Given the description of an element on the screen output the (x, y) to click on. 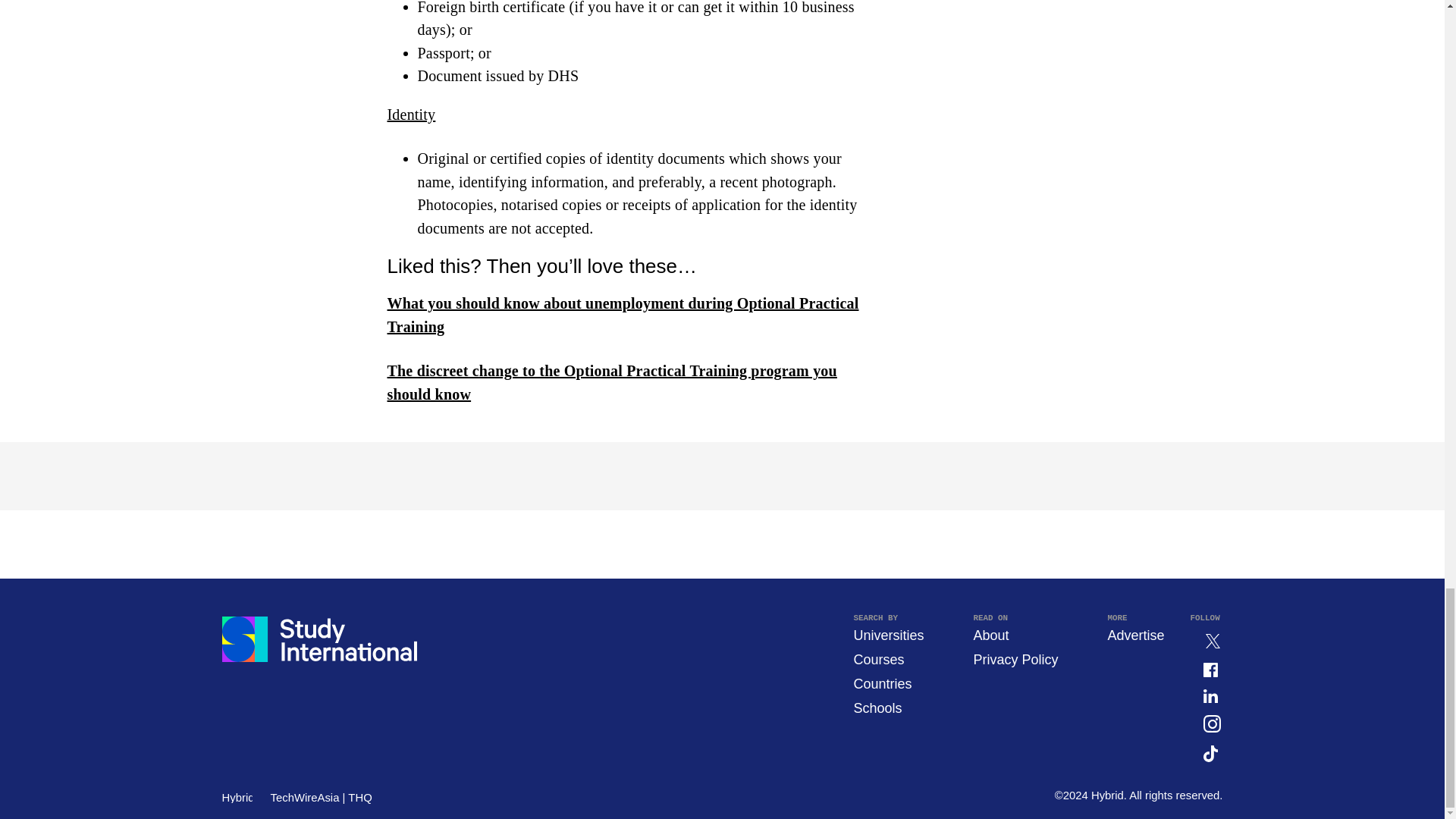
Schools (877, 708)
Courses (878, 659)
Countries (882, 683)
Universities (888, 635)
